Given the description of an element on the screen output the (x, y) to click on. 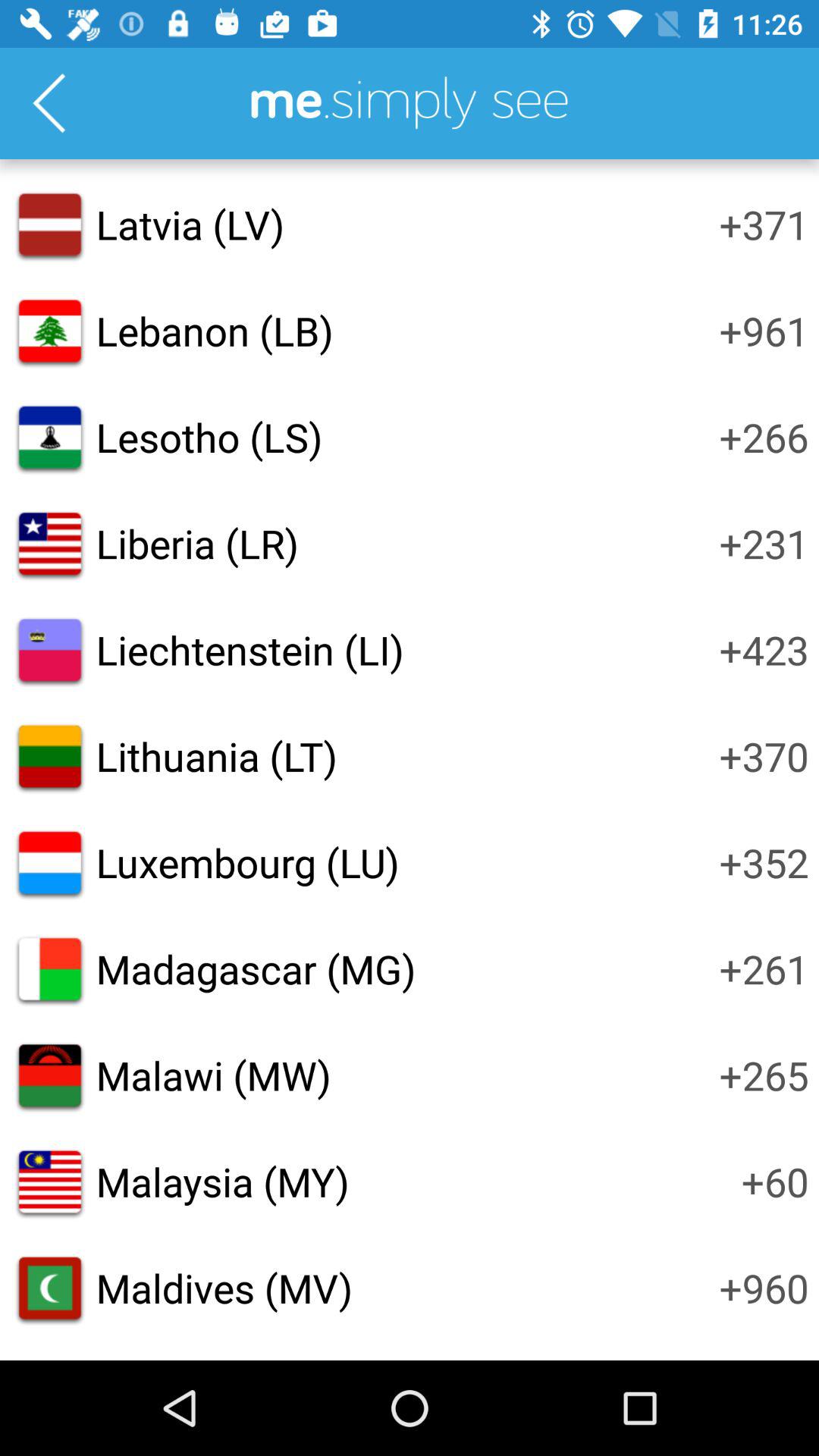
turn on icon below the +265 (774, 1181)
